Given the description of an element on the screen output the (x, y) to click on. 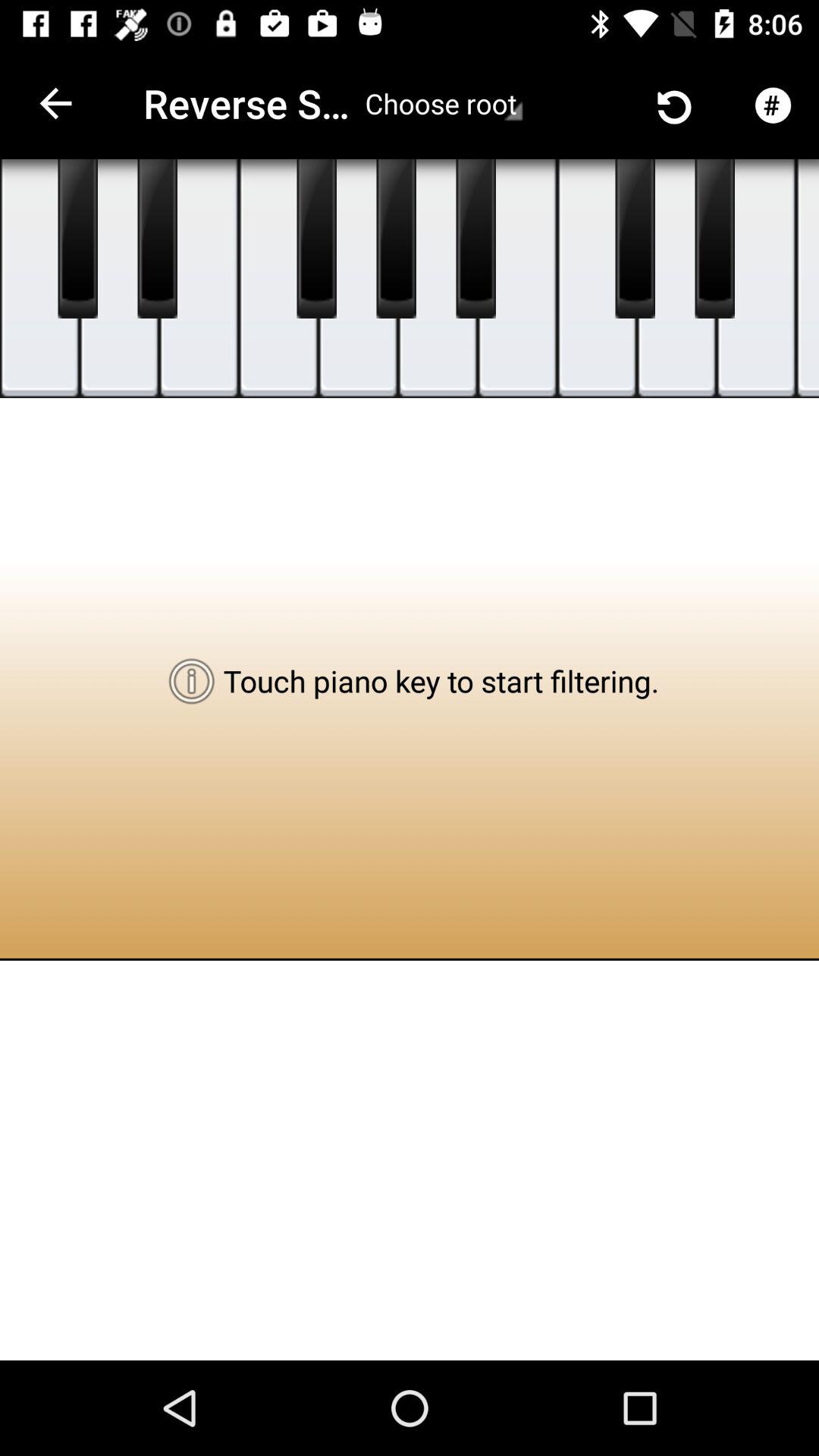
play piano (278, 278)
